Given the description of an element on the screen output the (x, y) to click on. 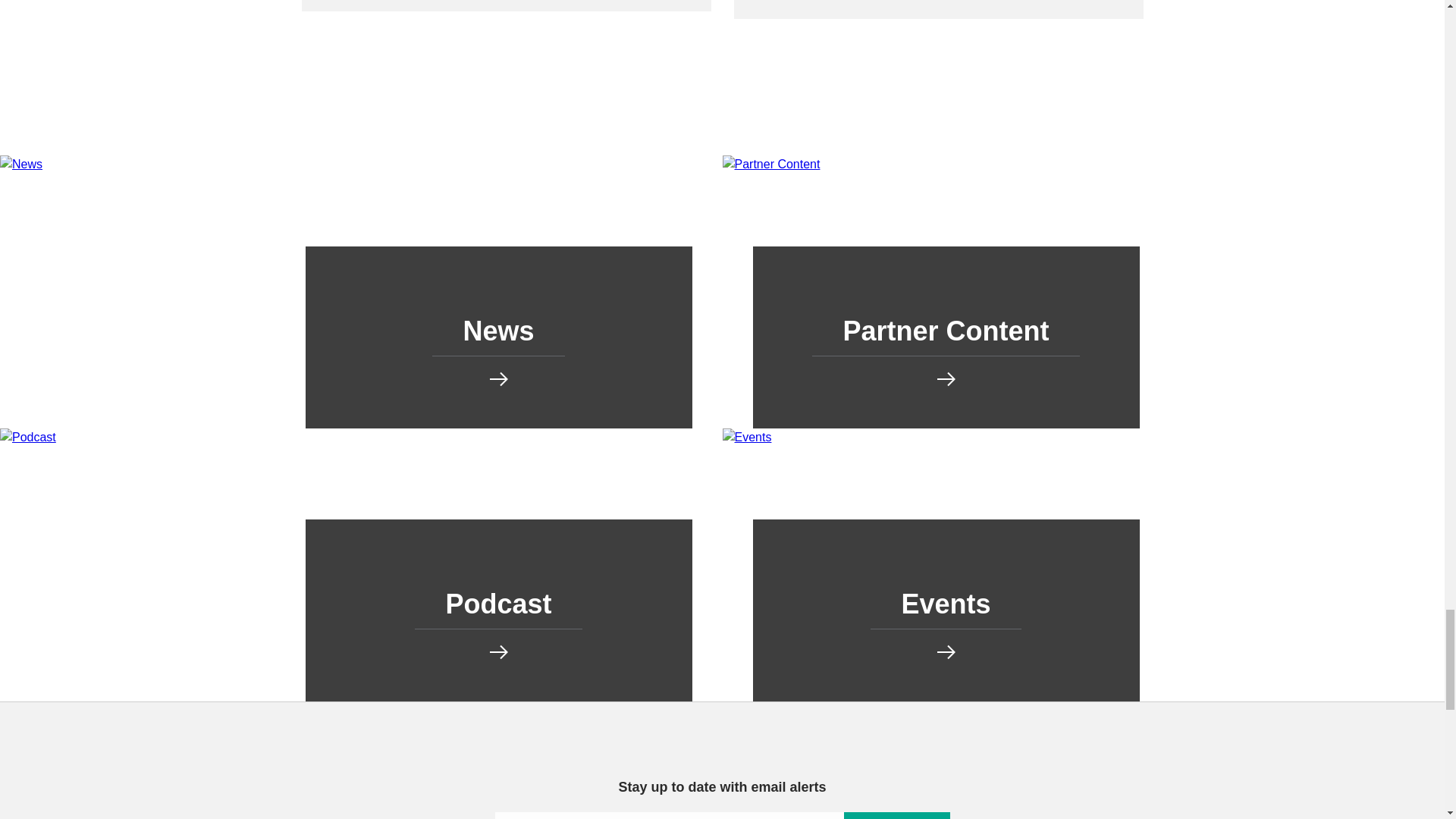
Subscribe (896, 815)
